Given the description of an element on the screen output the (x, y) to click on. 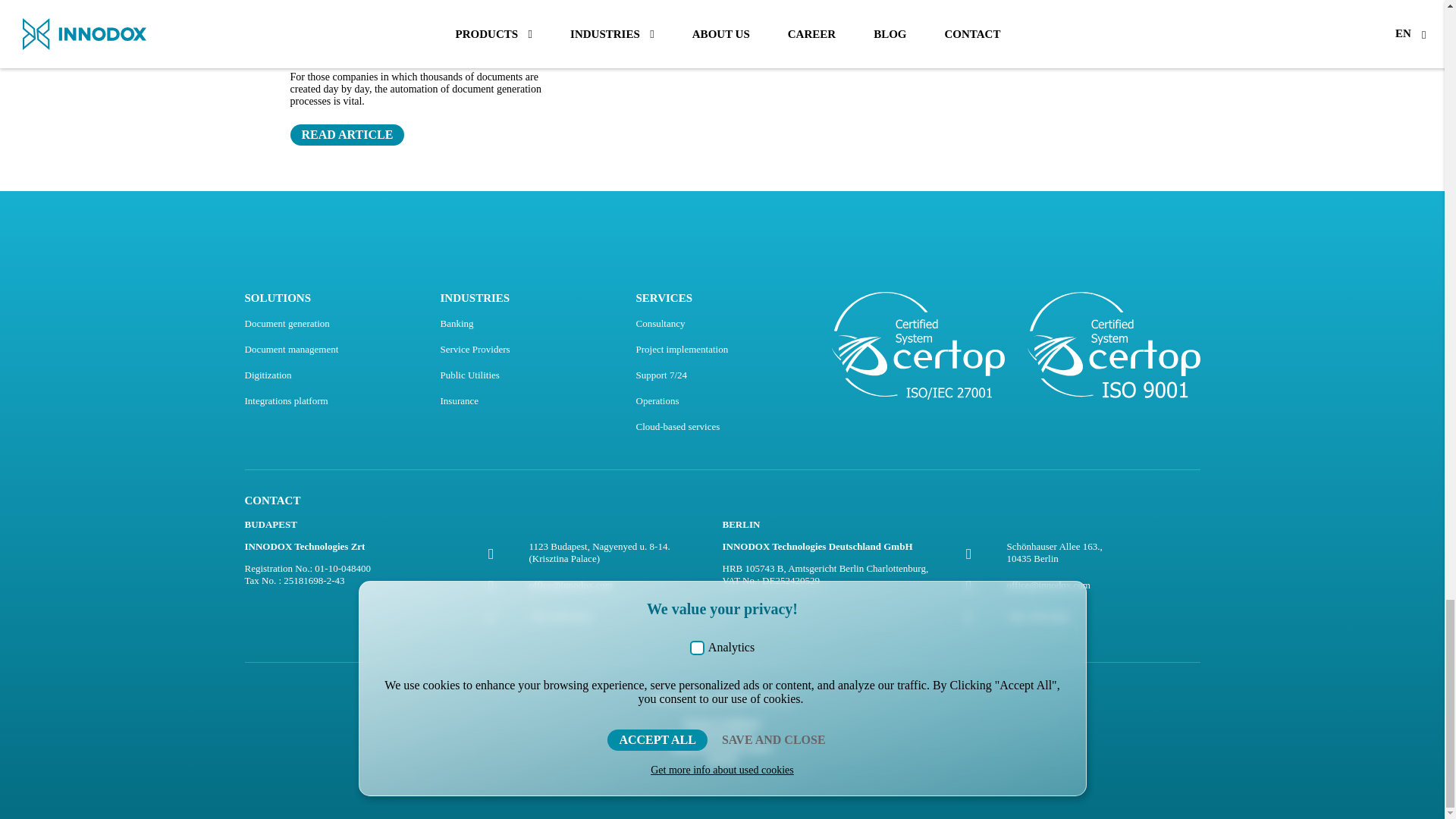
Digitization (267, 374)
Integrations platform (285, 400)
Document generation (286, 323)
Public Utilities (469, 374)
Document management (290, 348)
Banking (456, 323)
Service Conditions (722, 722)
Service Providers (474, 348)
Data Protection (721, 734)
Imprint (721, 758)
Insurance (459, 400)
